Given the description of an element on the screen output the (x, y) to click on. 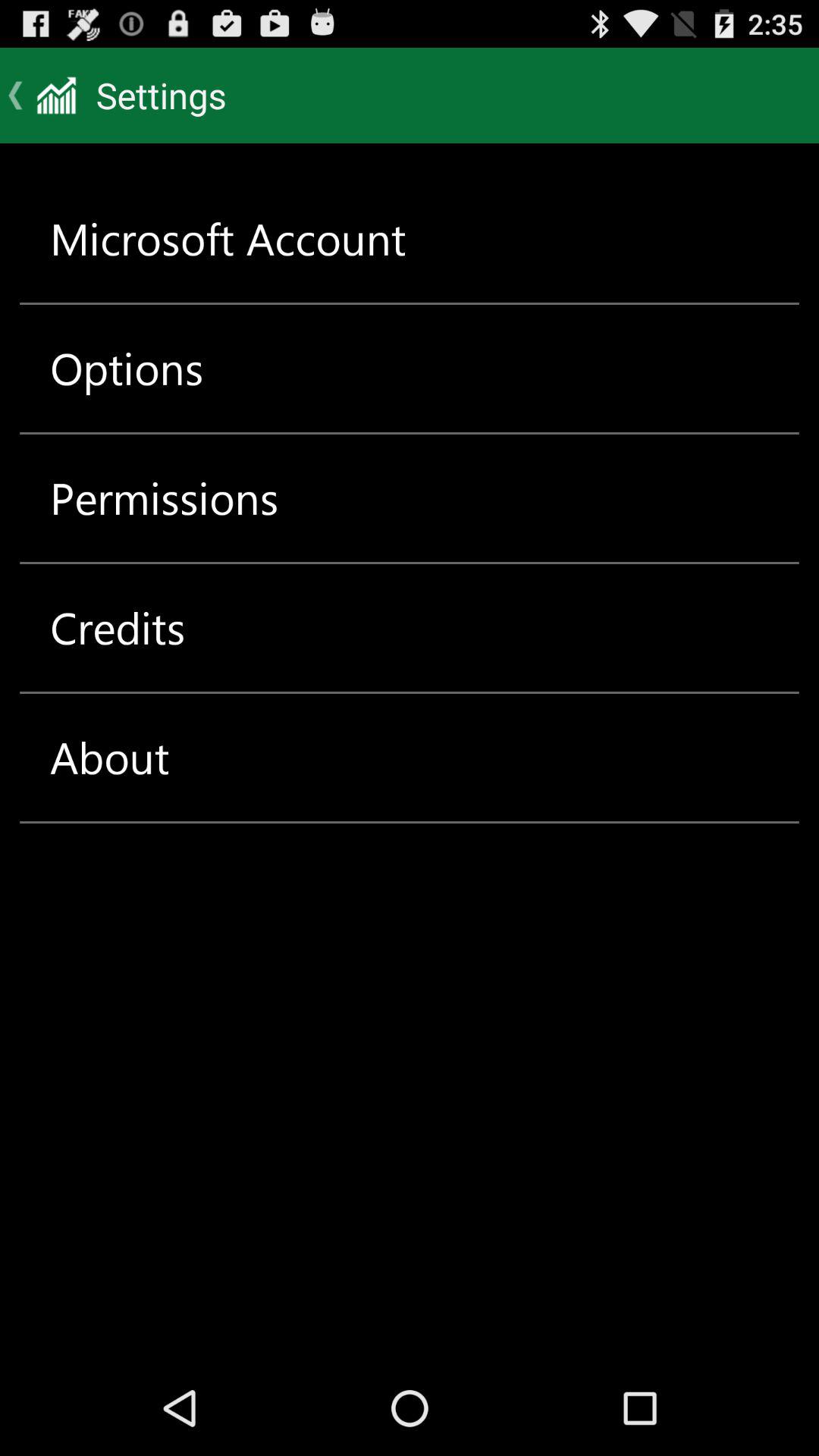
turn off the credits (117, 627)
